Given the description of an element on the screen output the (x, y) to click on. 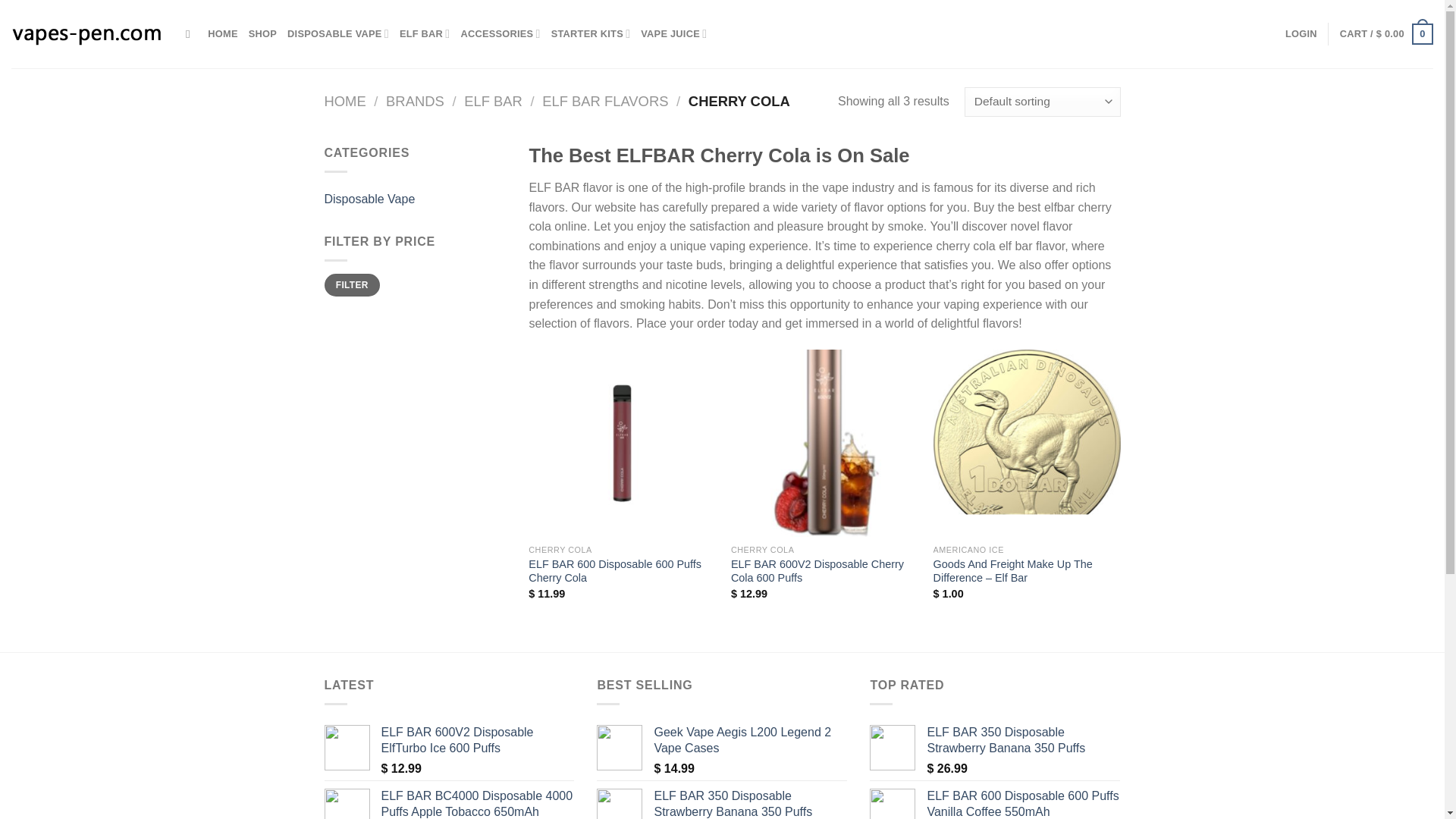
SHOP (262, 33)
HOME (222, 33)
Cart (1385, 34)
DISPOSABLE VAPE (337, 33)
